Given the description of an element on the screen output the (x, y) to click on. 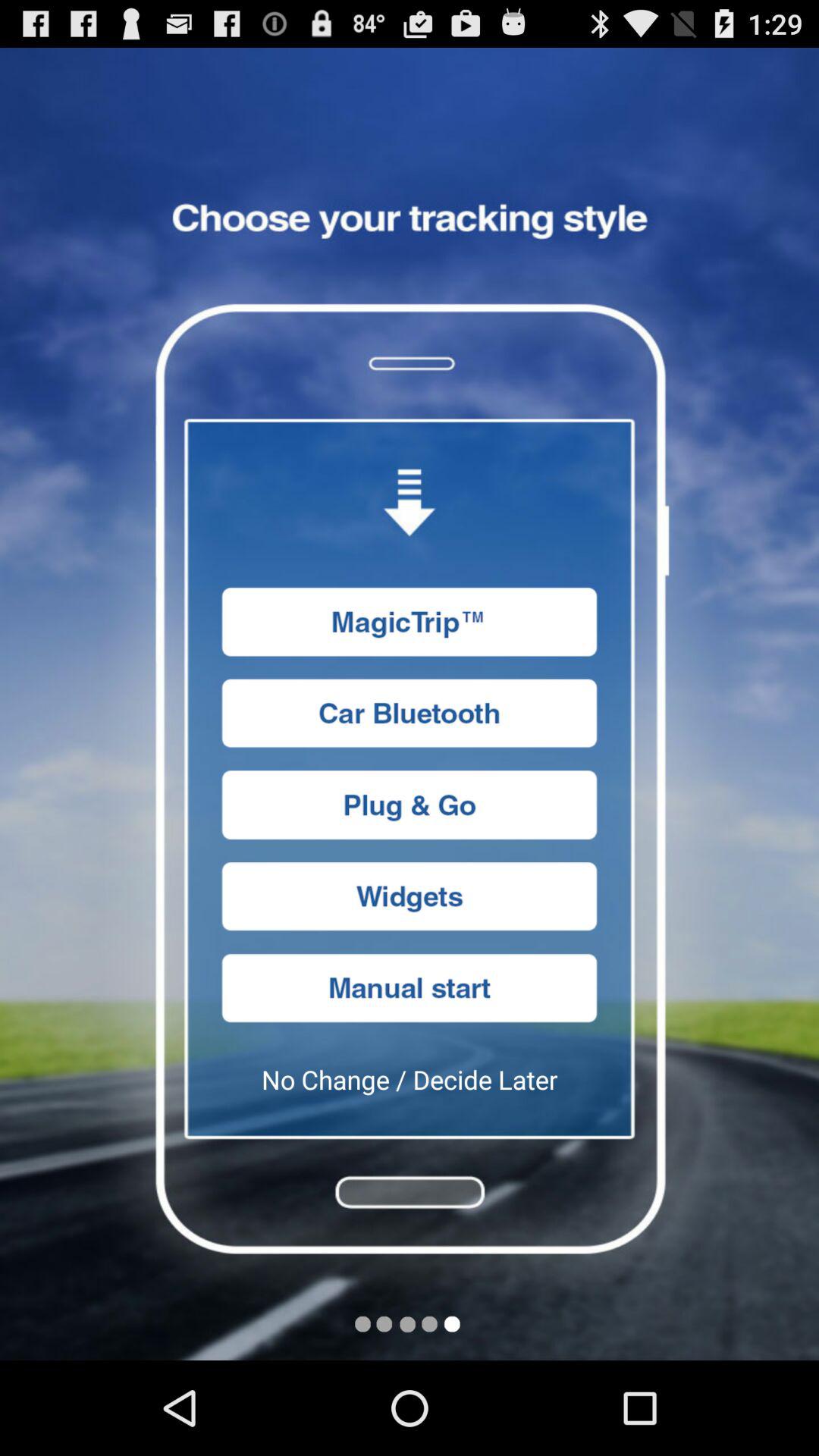
widgets button (409, 896)
